Given the description of an element on the screen output the (x, y) to click on. 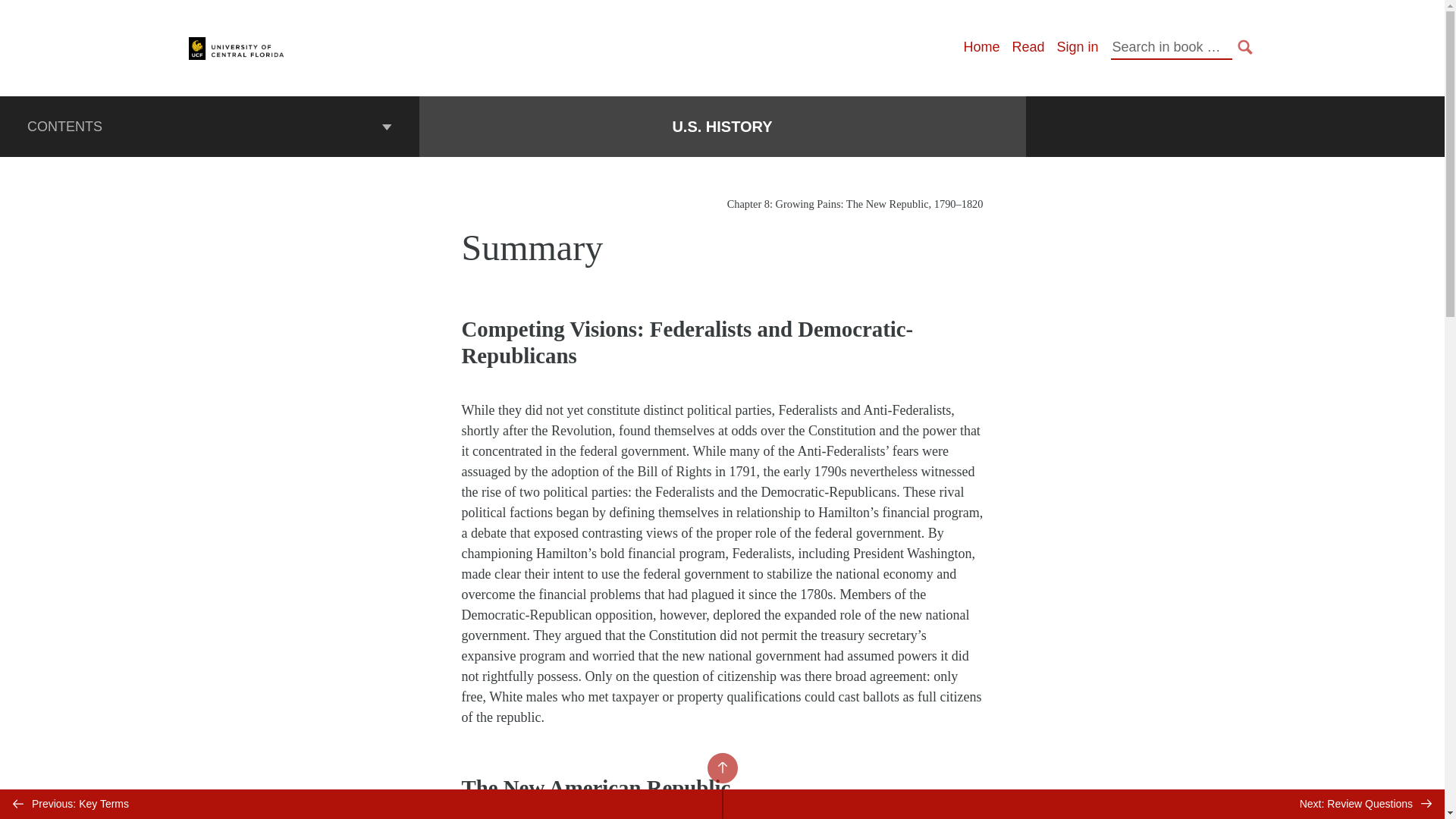
Previous: Key Terms (361, 804)
BACK TO TOP (721, 767)
Read (1027, 46)
Home (980, 46)
Sign in (1077, 46)
U.S. HISTORY (721, 126)
CONTENTS (209, 126)
Previous: Key Terms (361, 804)
